Given the description of an element on the screen output the (x, y) to click on. 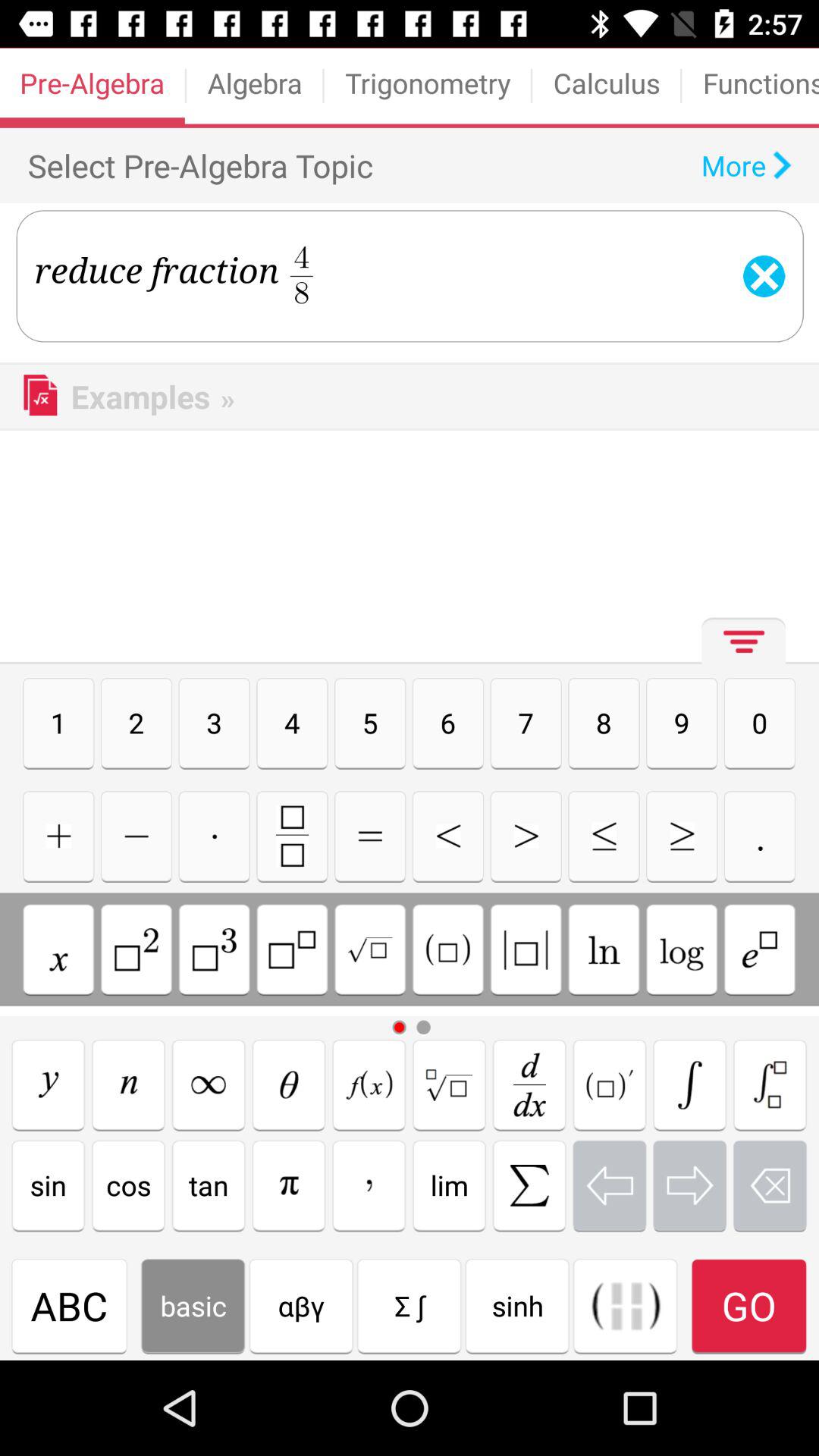
natural logarithm (603, 949)
